Given the description of an element on the screen output the (x, y) to click on. 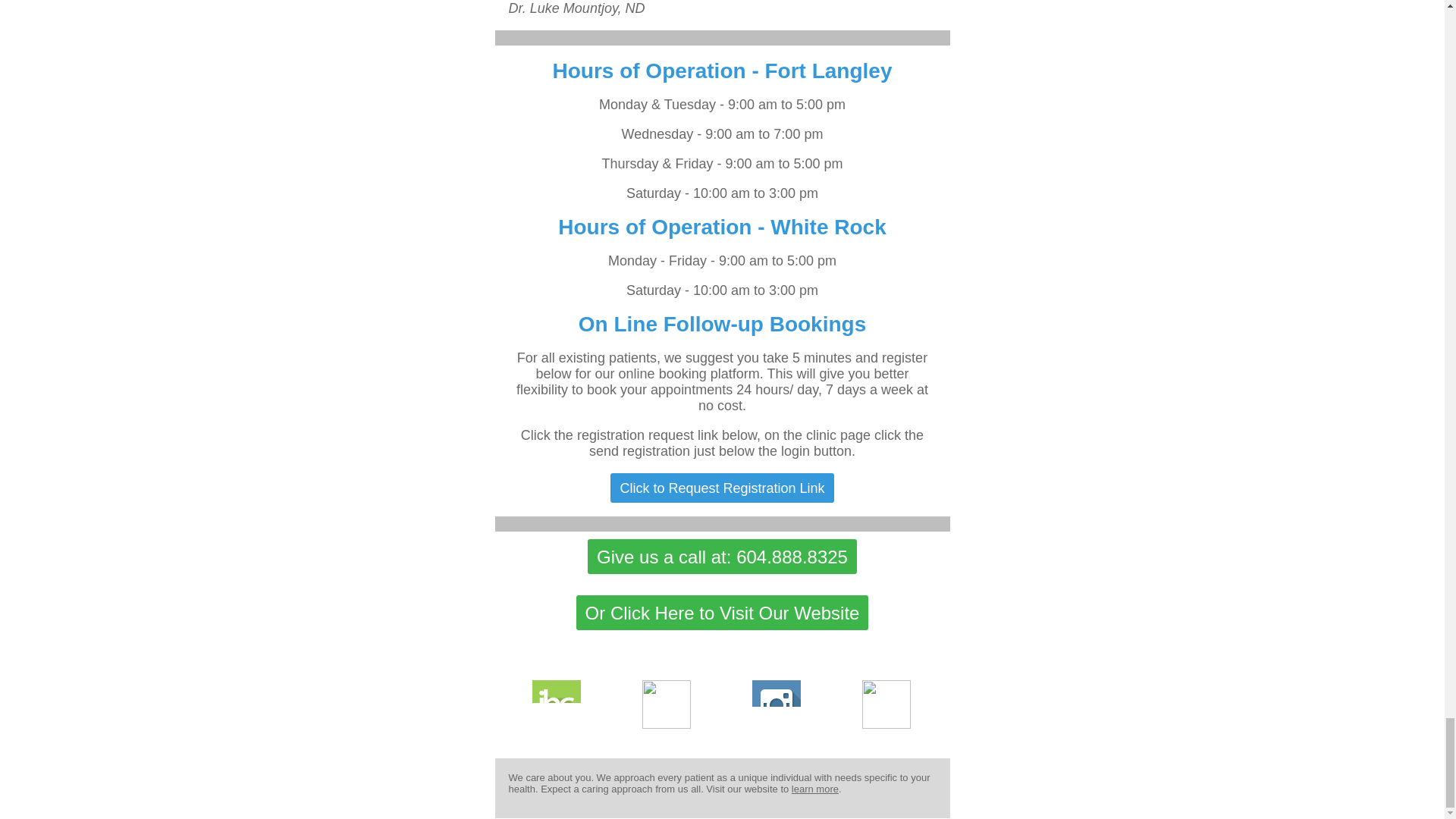
Give us a call at: 604.888.8325 (722, 556)
Or Click Here to Visit Our Website (722, 612)
Click to Request Registration Link (721, 487)
learn more (815, 788)
